Given the description of an element on the screen output the (x, y) to click on. 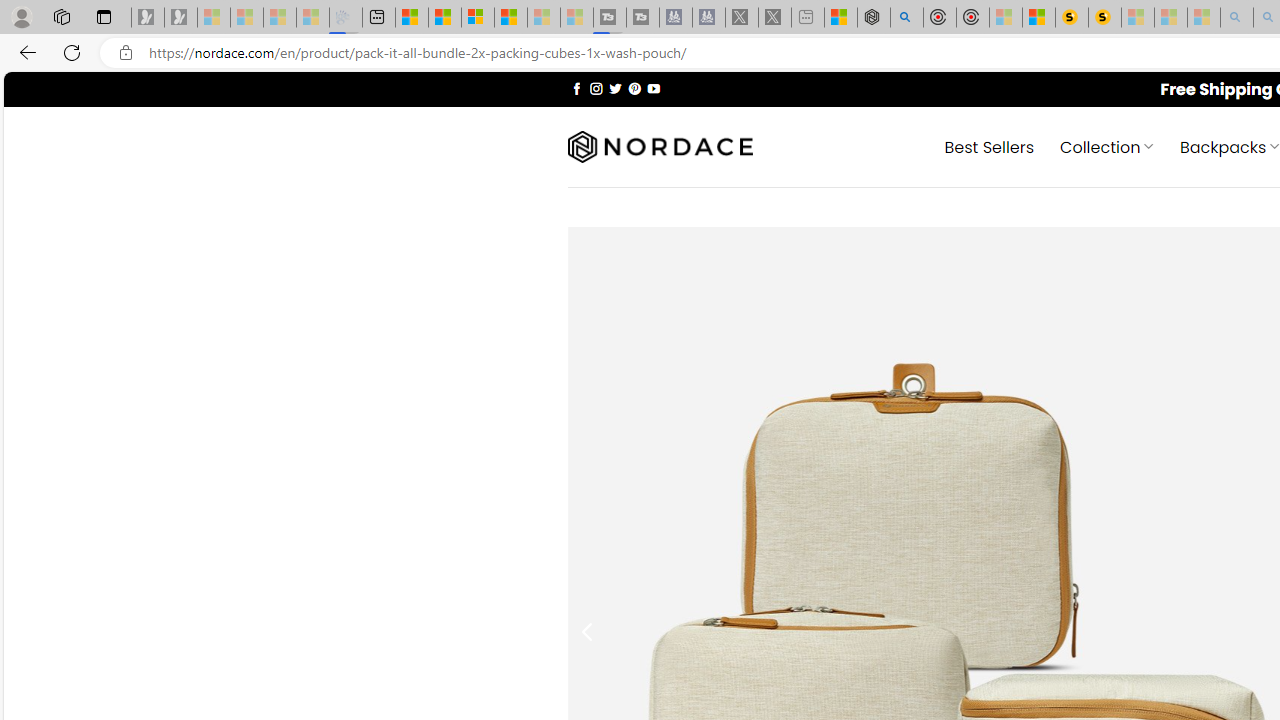
X - Sleeping (775, 17)
Newsletter Sign Up - Sleeping (181, 17)
Overview (478, 17)
poe - Search (906, 17)
Follow on Pinterest (634, 88)
